Given the description of an element on the screen output the (x, y) to click on. 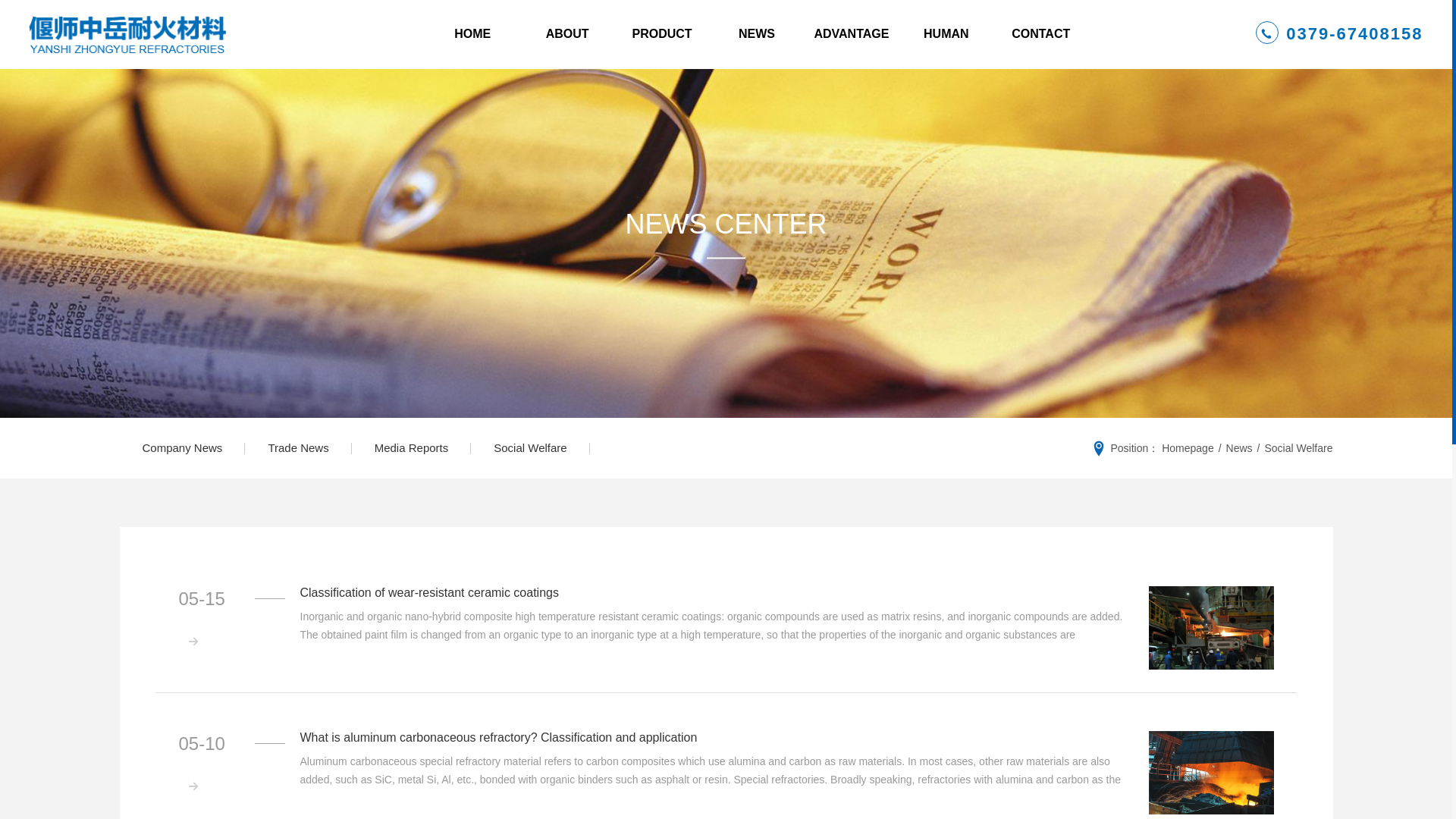
Classification of wear-resistant ceramic coatings (1210, 627)
Media Reports (411, 447)
HOME (472, 33)
Homepage (1187, 448)
HUMAN (945, 33)
PRODUCT (662, 33)
0379-67408158 (1338, 33)
Social Welfare (529, 447)
NEWS (757, 33)
